Given the description of an element on the screen output the (x, y) to click on. 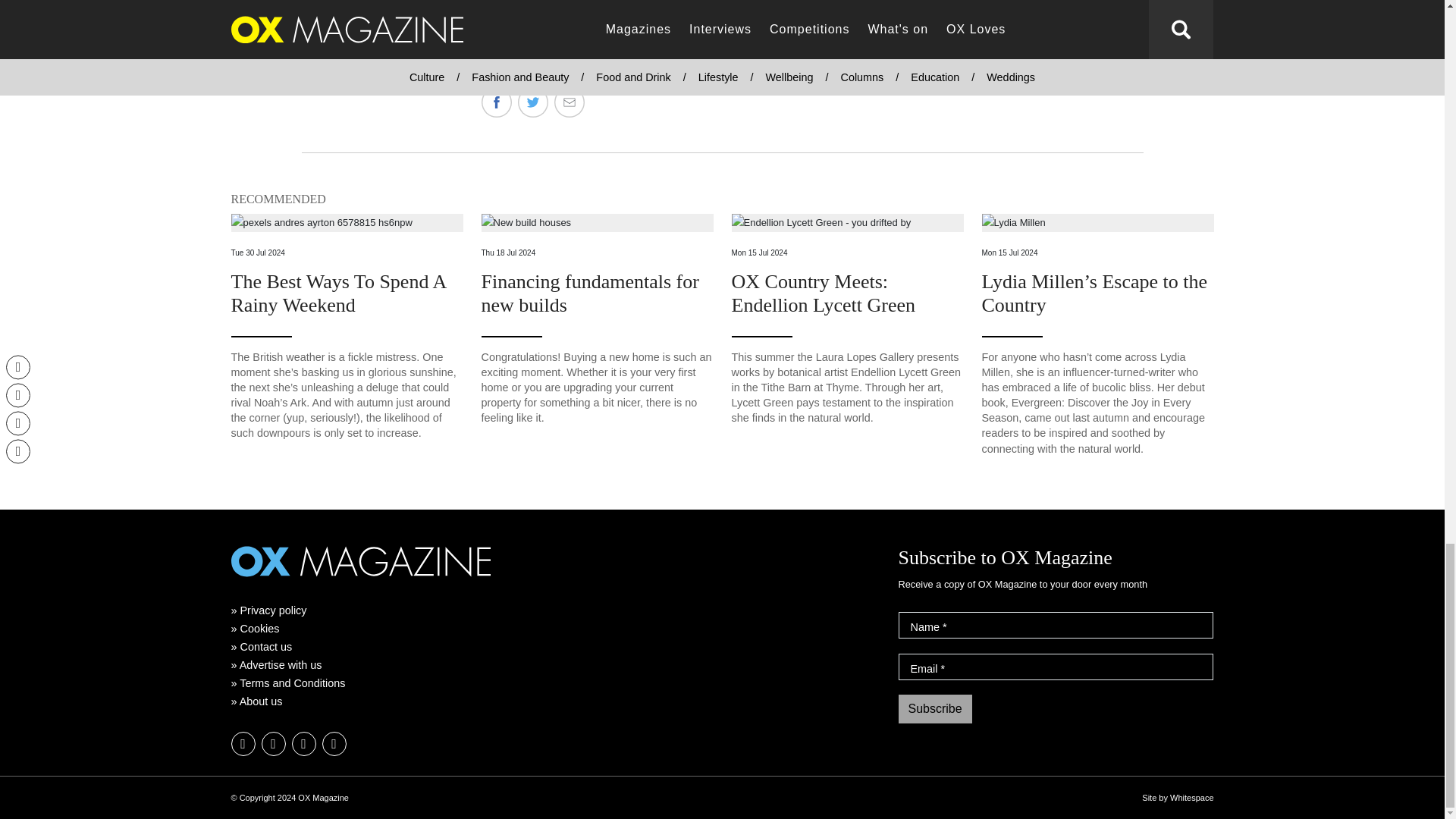
Build It Live 2023 (318, 33)
This field is required (944, 626)
This field is required (942, 668)
